Given the description of an element on the screen output the (x, y) to click on. 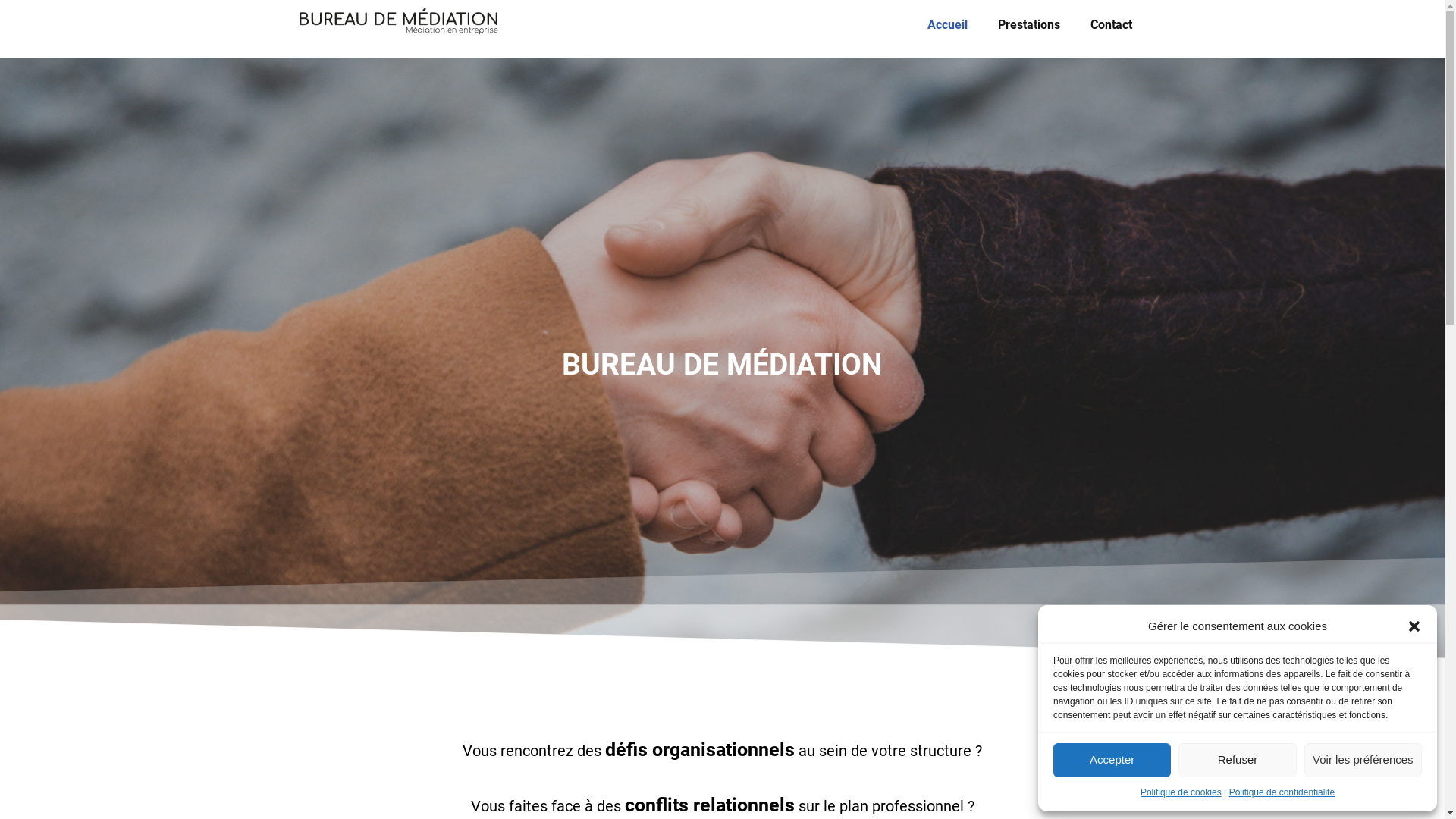
Prestations Element type: text (1028, 24)
Politique de cookies Element type: text (1180, 792)
Accueil Element type: text (946, 24)
Refuser Element type: text (1236, 760)
Accepter Element type: text (1111, 760)
Contact Element type: text (1111, 24)
Aller au contenu Element type: text (11, 31)
